Given the description of an element on the screen output the (x, y) to click on. 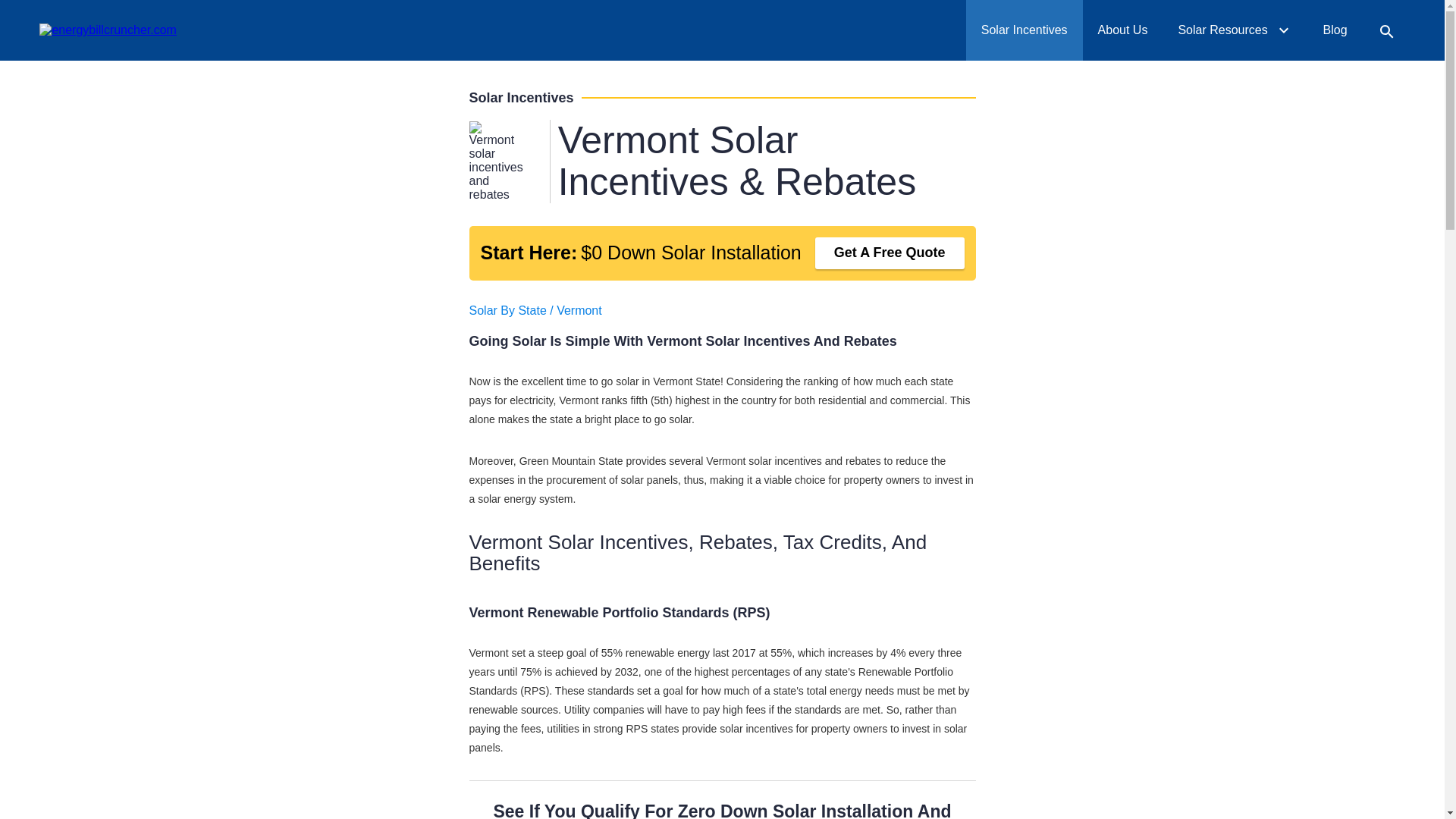
Solar Incentives (1024, 30)
Get A Free Quote (889, 253)
Blog (1334, 30)
Solar By State (507, 309)
Solar Resources   (1234, 30)
About Us (1123, 30)
Get A Free Quote (849, 19)
